Given the description of an element on the screen output the (x, y) to click on. 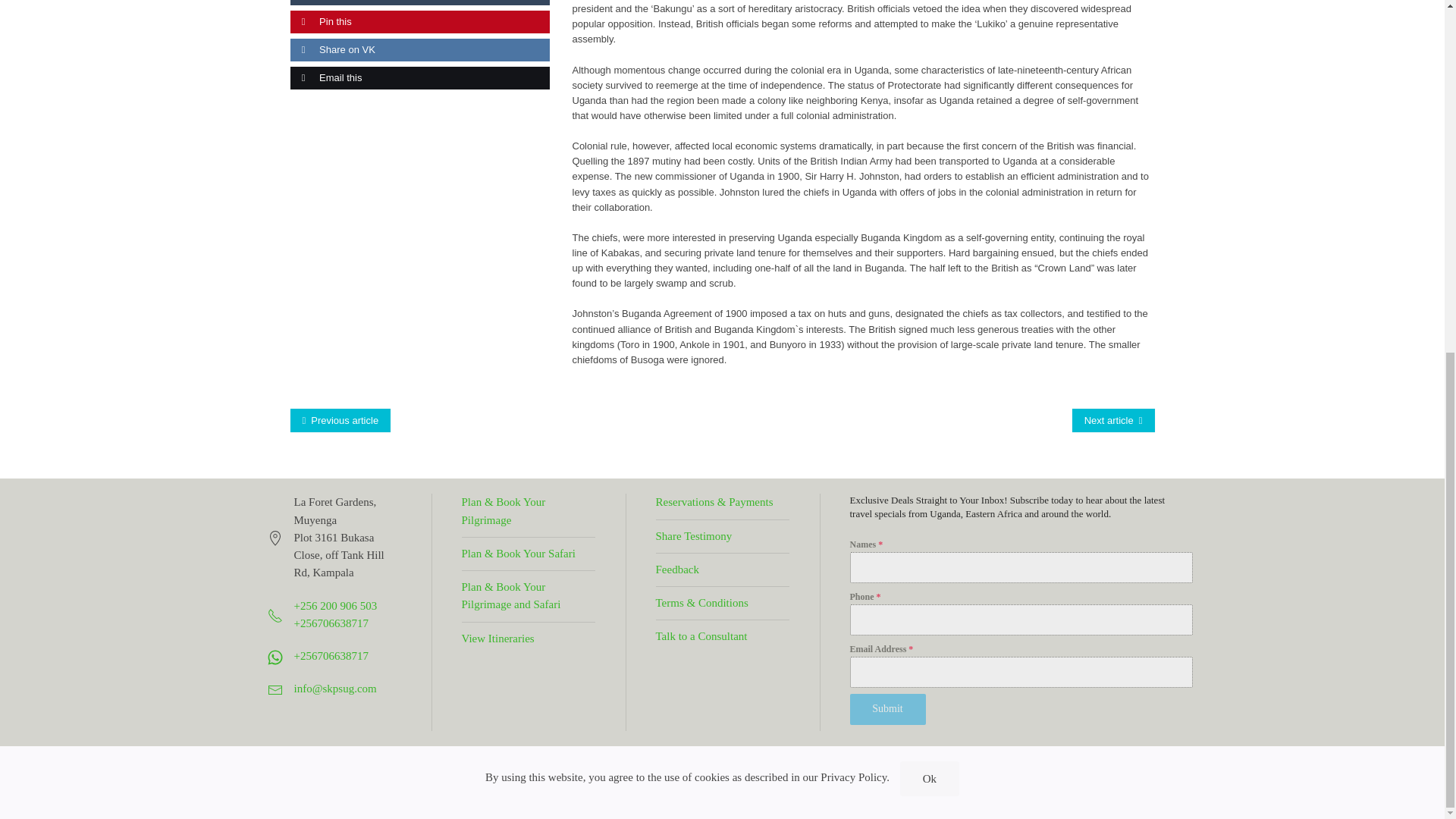
Share on VK (331, 49)
Professional website design in Kampala,Uganda (524, 776)
Pin this (319, 21)
Pin this (319, 21)
Email this (325, 77)
